Given the description of an element on the screen output the (x, y) to click on. 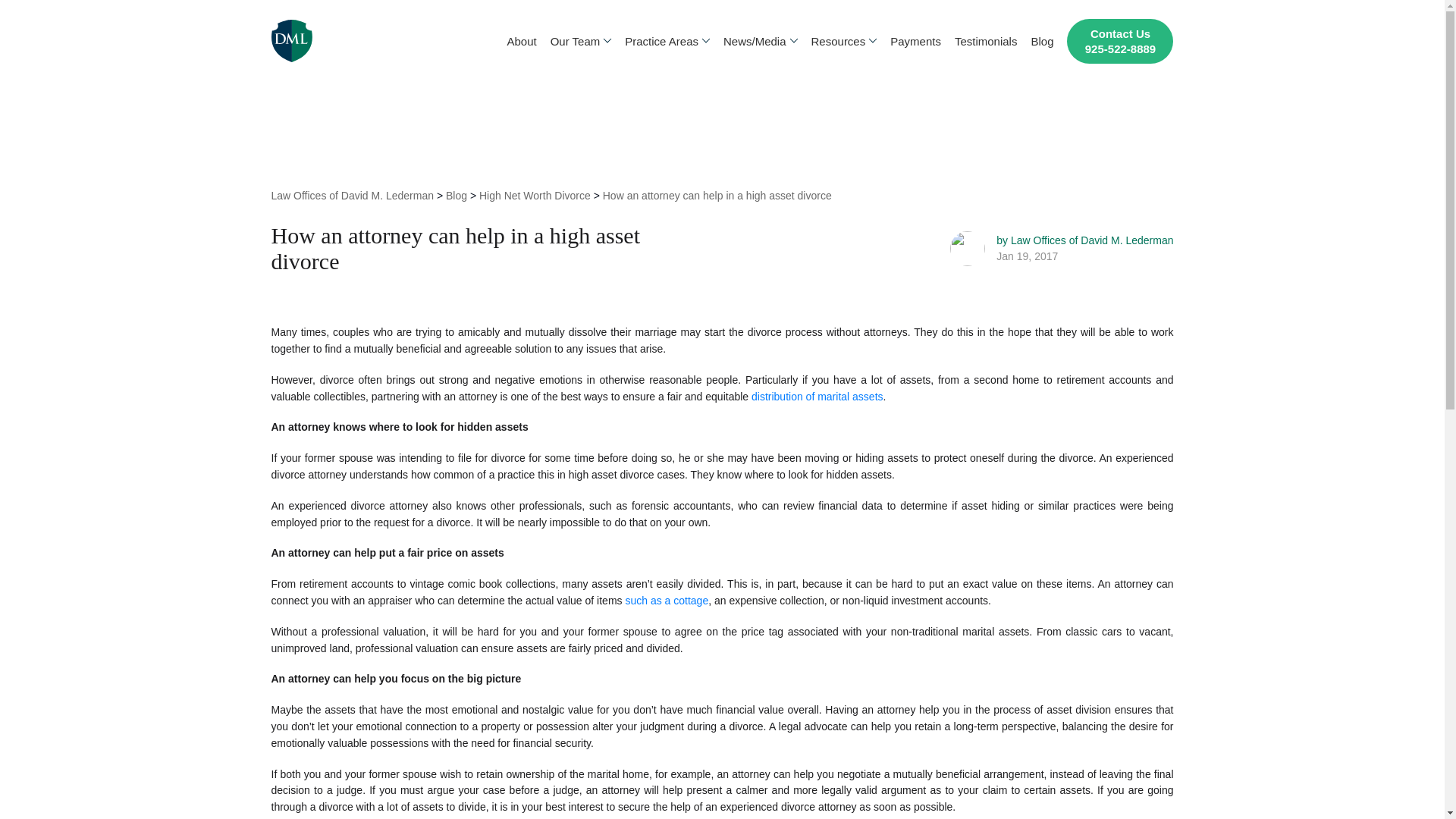
Practice Areas (667, 40)
Go to Law Offices of David M. Lederman. (351, 195)
About (520, 40)
Go to Blog. (456, 195)
Go to the High Net Worth Divorce Category archives. (535, 195)
Our Team (580, 40)
